Given the description of an element on the screen output the (x, y) to click on. 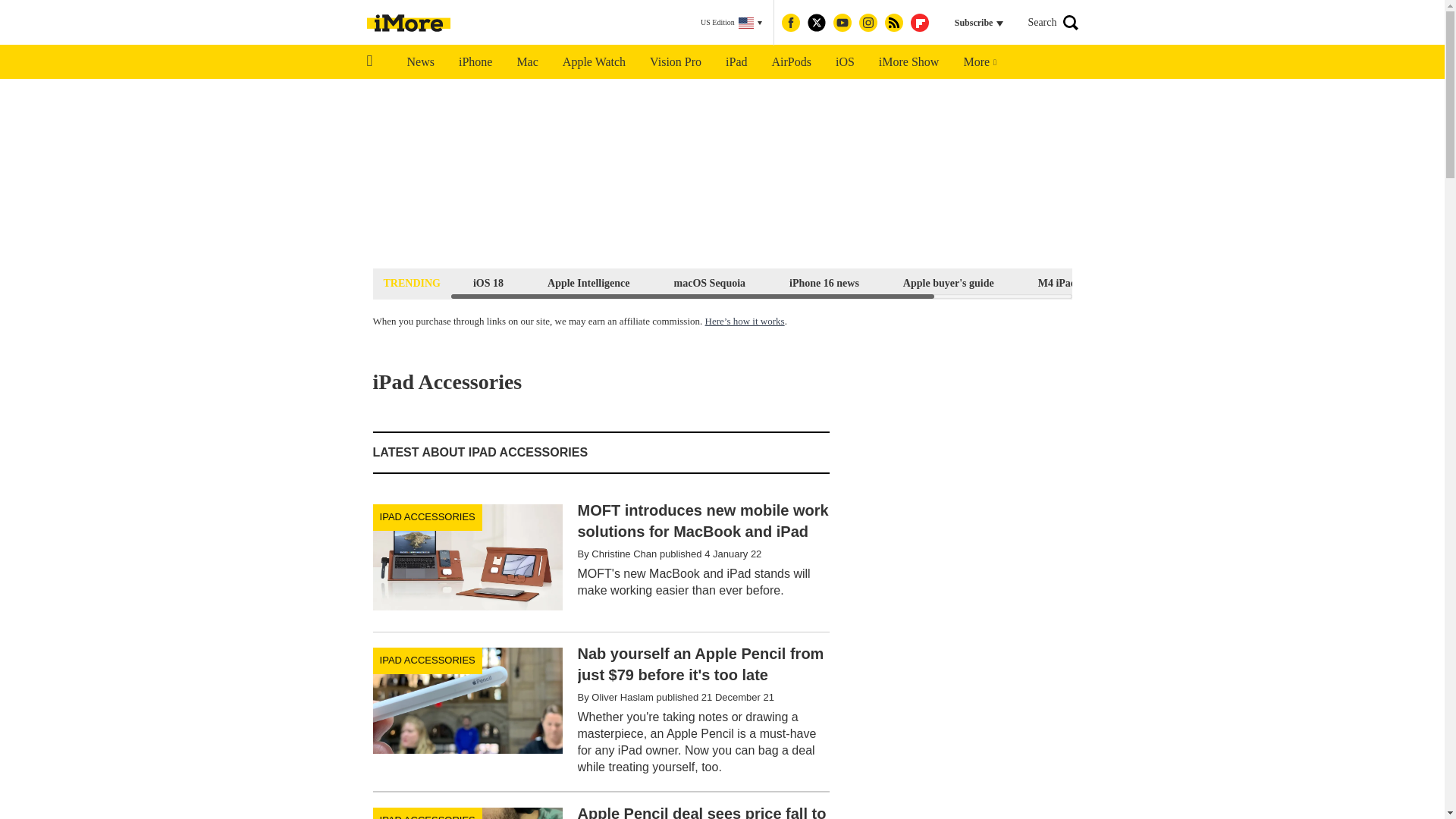
iOS (845, 61)
Mac (526, 61)
News (419, 61)
Apple Watch (593, 61)
Vision Pro (675, 61)
iMore Show (909, 61)
iPhone (474, 61)
US Edition (731, 22)
iPad (735, 61)
AirPods (792, 61)
